Given the description of an element on the screen output the (x, y) to click on. 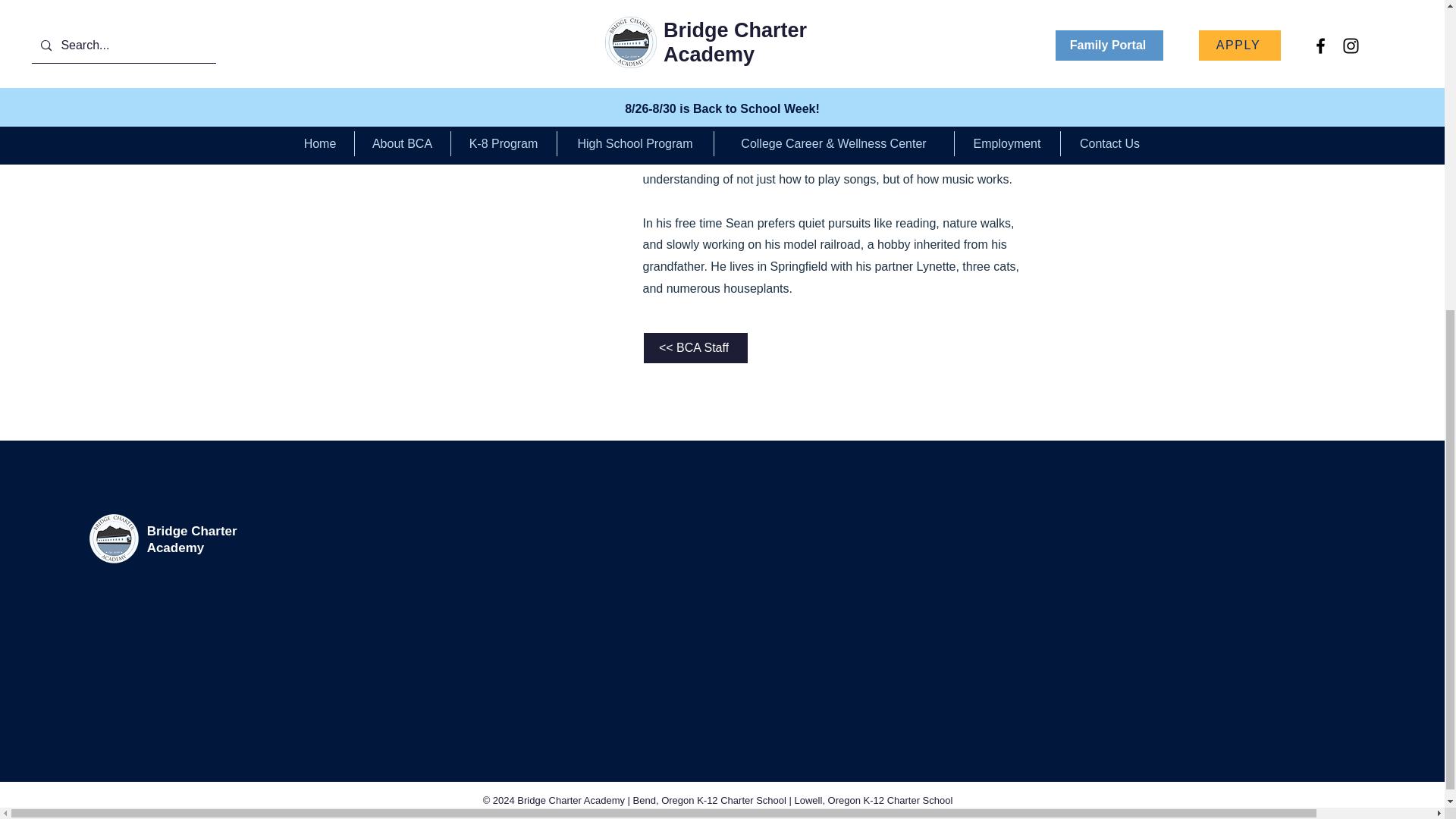
sean.png (498, 15)
Bridge Charter Academy (192, 539)
circlelogo.png (113, 538)
